Given the description of an element on the screen output the (x, y) to click on. 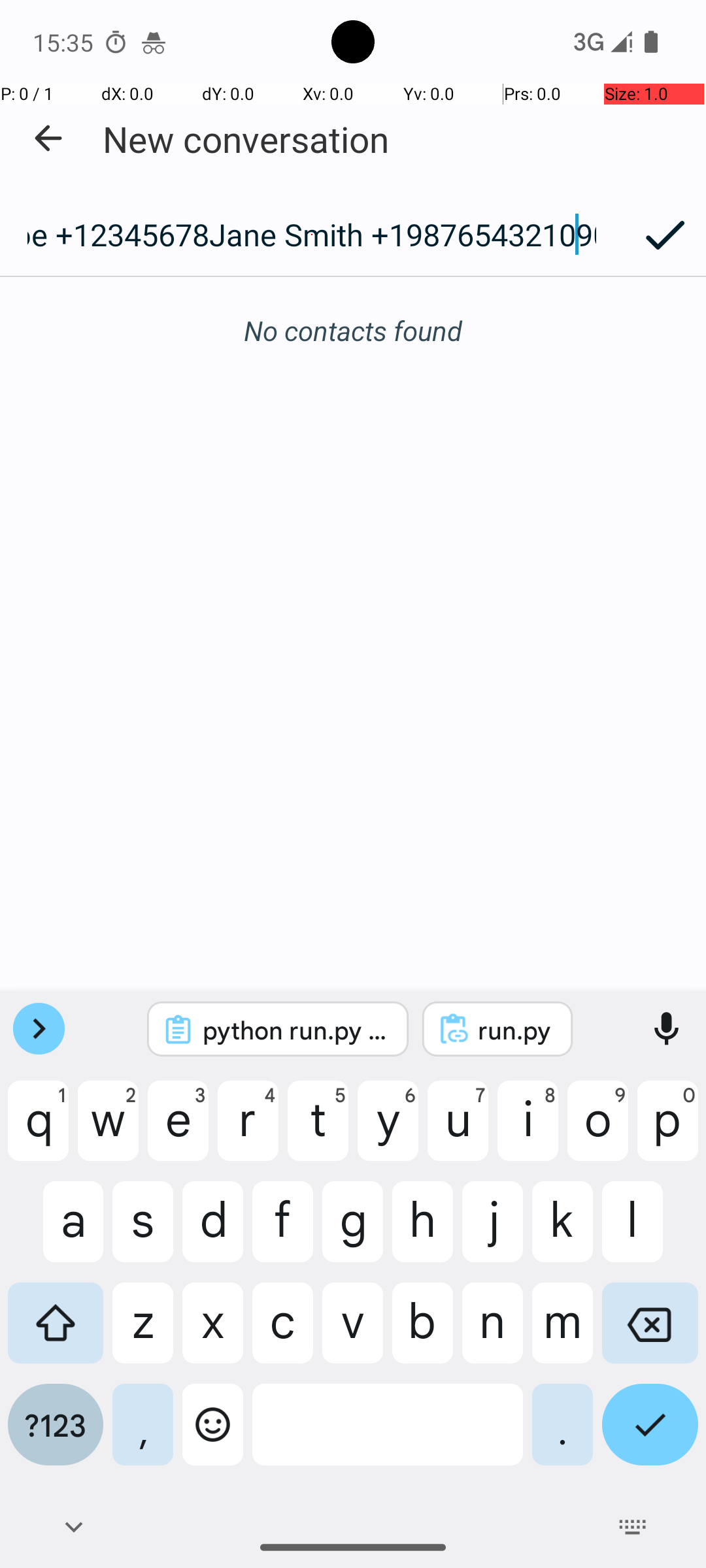
John Doe +12345678Jane Smith +1987654321090 Element type: android.widget.EditText (311, 234)
